Given the description of an element on the screen output the (x, y) to click on. 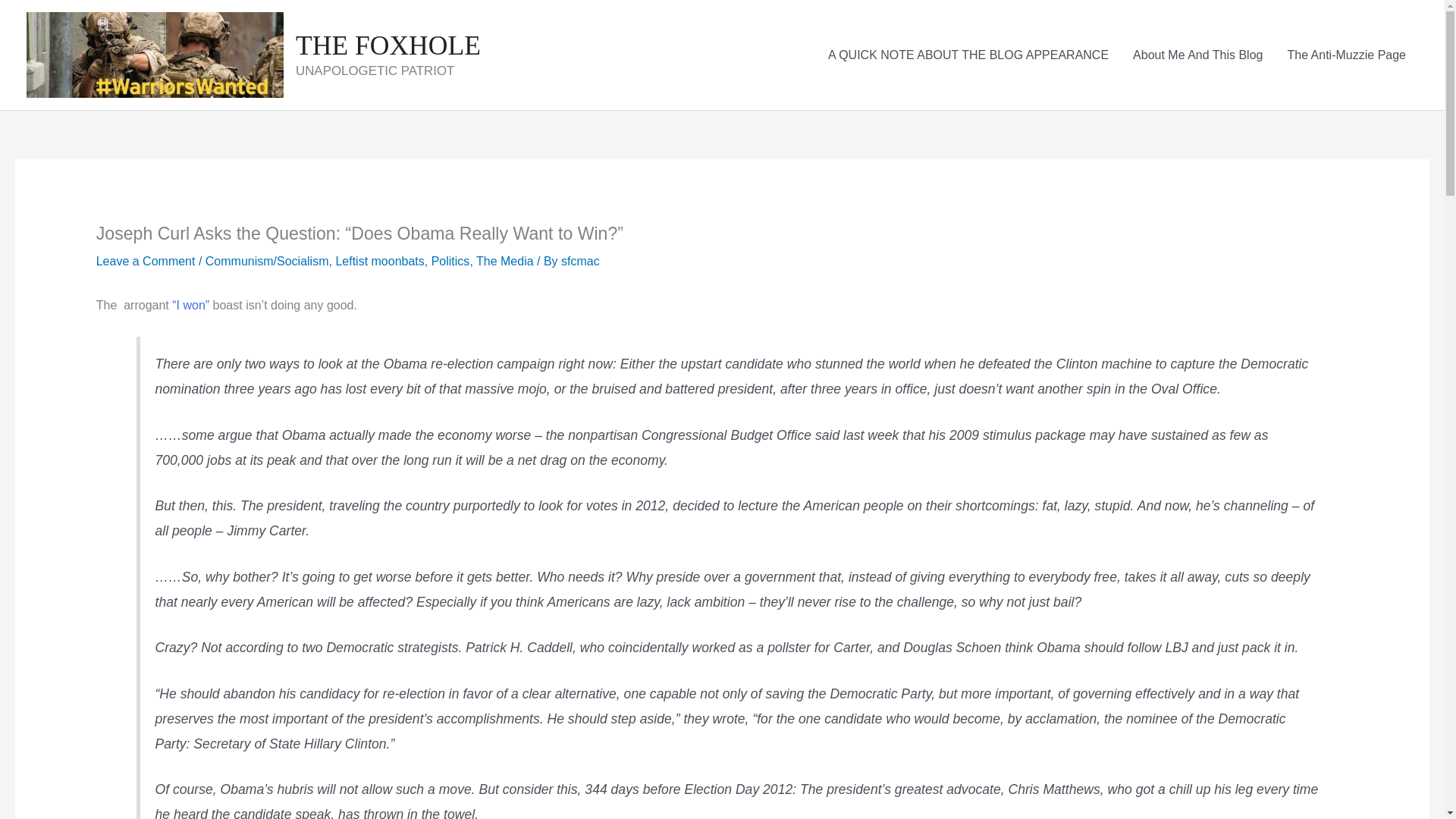
The Anti-Muzzie Page (1346, 54)
About Me And This Blog (1198, 54)
Leave a Comment (145, 260)
Leftist moonbats (378, 260)
Politics (450, 260)
View all posts by sfcmac (579, 260)
sfcmac (579, 260)
THE FOXHOLE (387, 45)
A QUICK NOTE ABOUT THE BLOG APPEARANCE (968, 54)
The Media (505, 260)
